Given the description of an element on the screen output the (x, y) to click on. 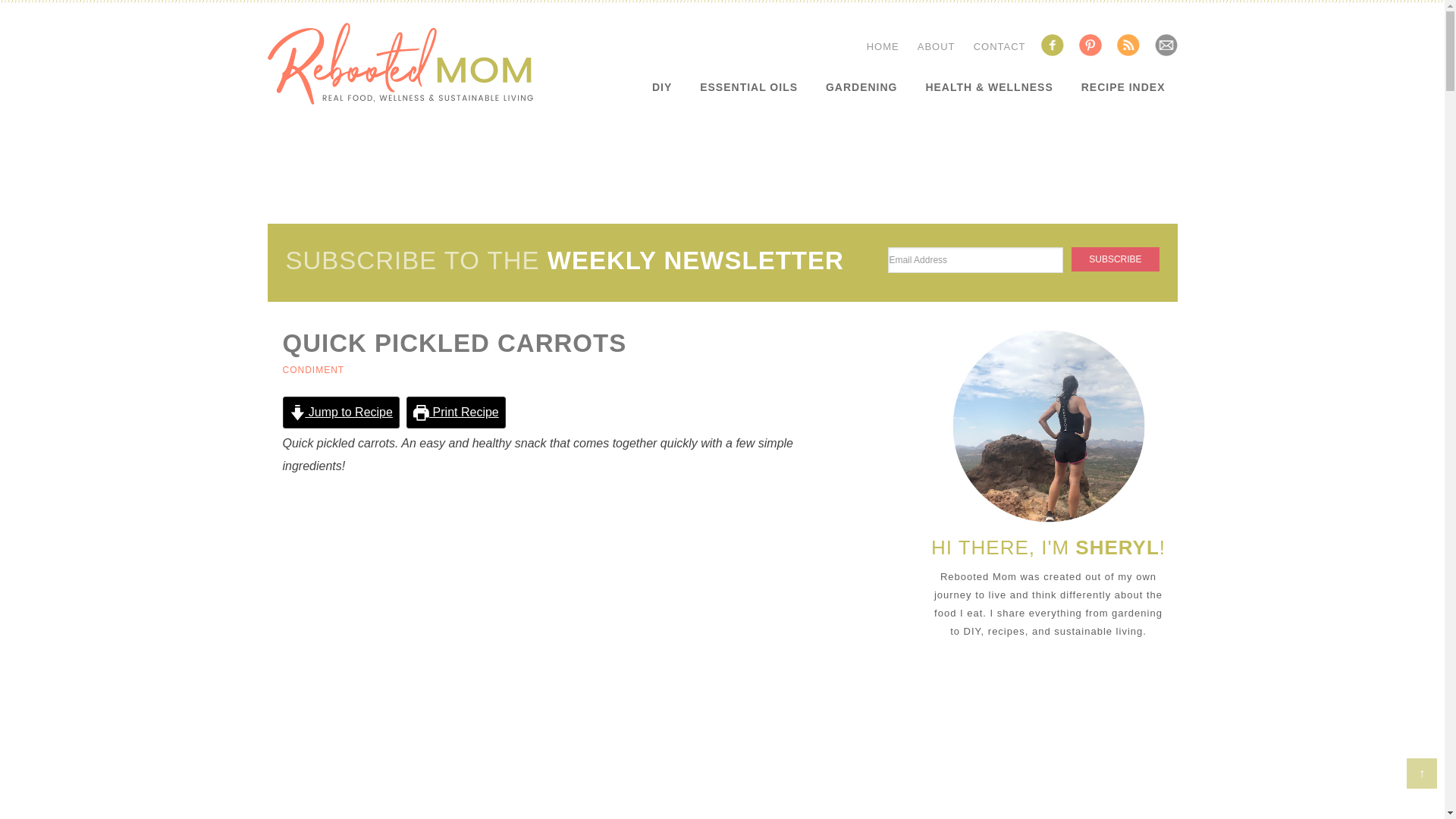
REBOOTED MOM (399, 63)
HOME (883, 46)
CONTACT (999, 46)
GARDENING (861, 87)
CONDIMENT (312, 369)
Subscribe (1114, 259)
ABOUT (936, 46)
DIY (662, 87)
Print Recipe (455, 412)
ESSENTIAL OILS (748, 87)
